Given the description of an element on the screen output the (x, y) to click on. 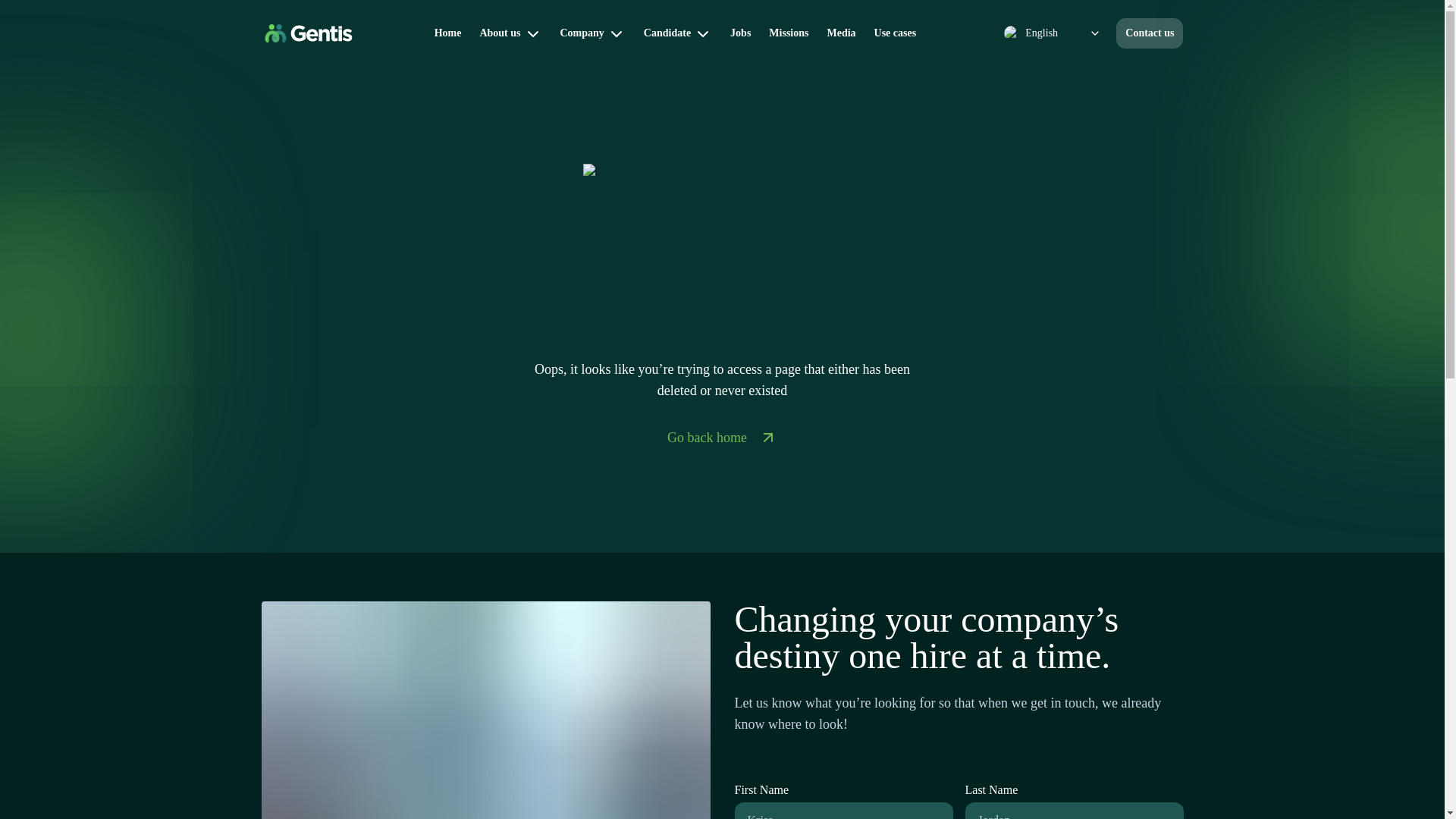
Home (447, 32)
Missions (788, 32)
About us (510, 33)
Media (840, 32)
English (1051, 33)
Company (591, 33)
Candidate (677, 33)
Jobs (740, 32)
Use cases (895, 32)
